Given the description of an element on the screen output the (x, y) to click on. 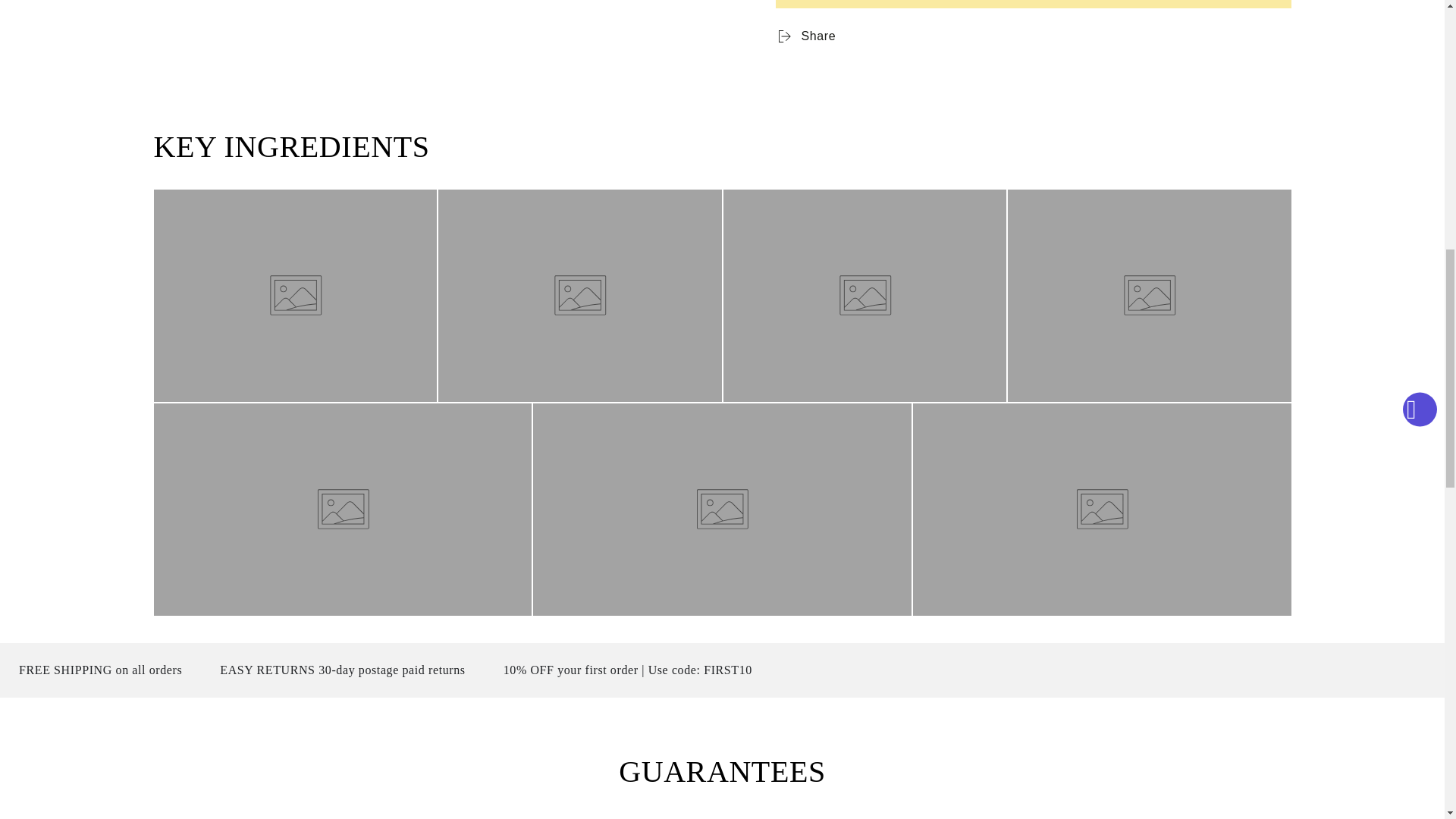
BUY IT NOW (1032, 4)
